Given the description of an element on the screen output the (x, y) to click on. 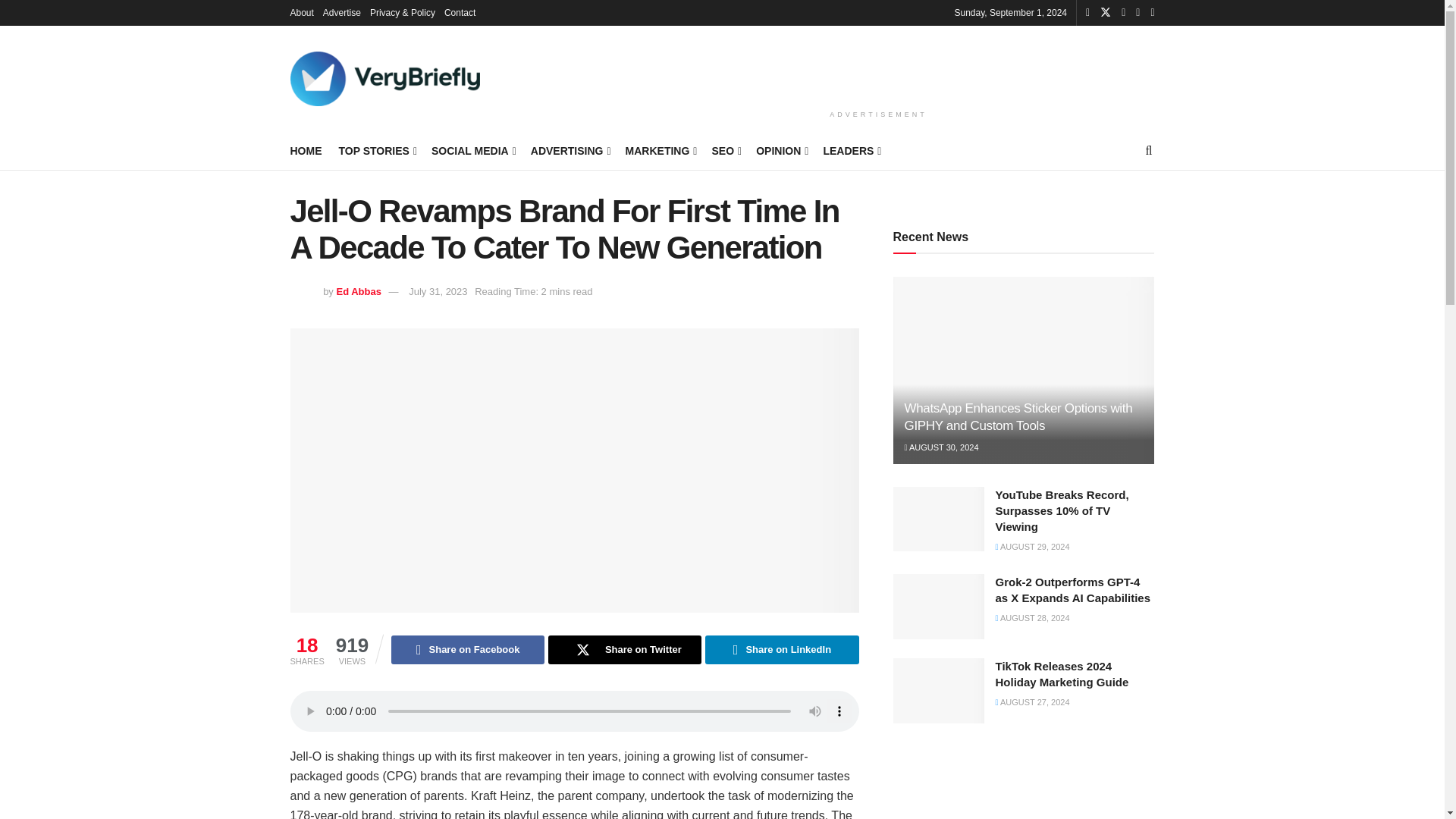
HOME (305, 150)
About (301, 12)
ADVERTISING (569, 150)
Advertise (342, 12)
Contact (460, 12)
SOCIAL MEDIA (471, 150)
TOP STORIES (375, 150)
